Given the description of an element on the screen output the (x, y) to click on. 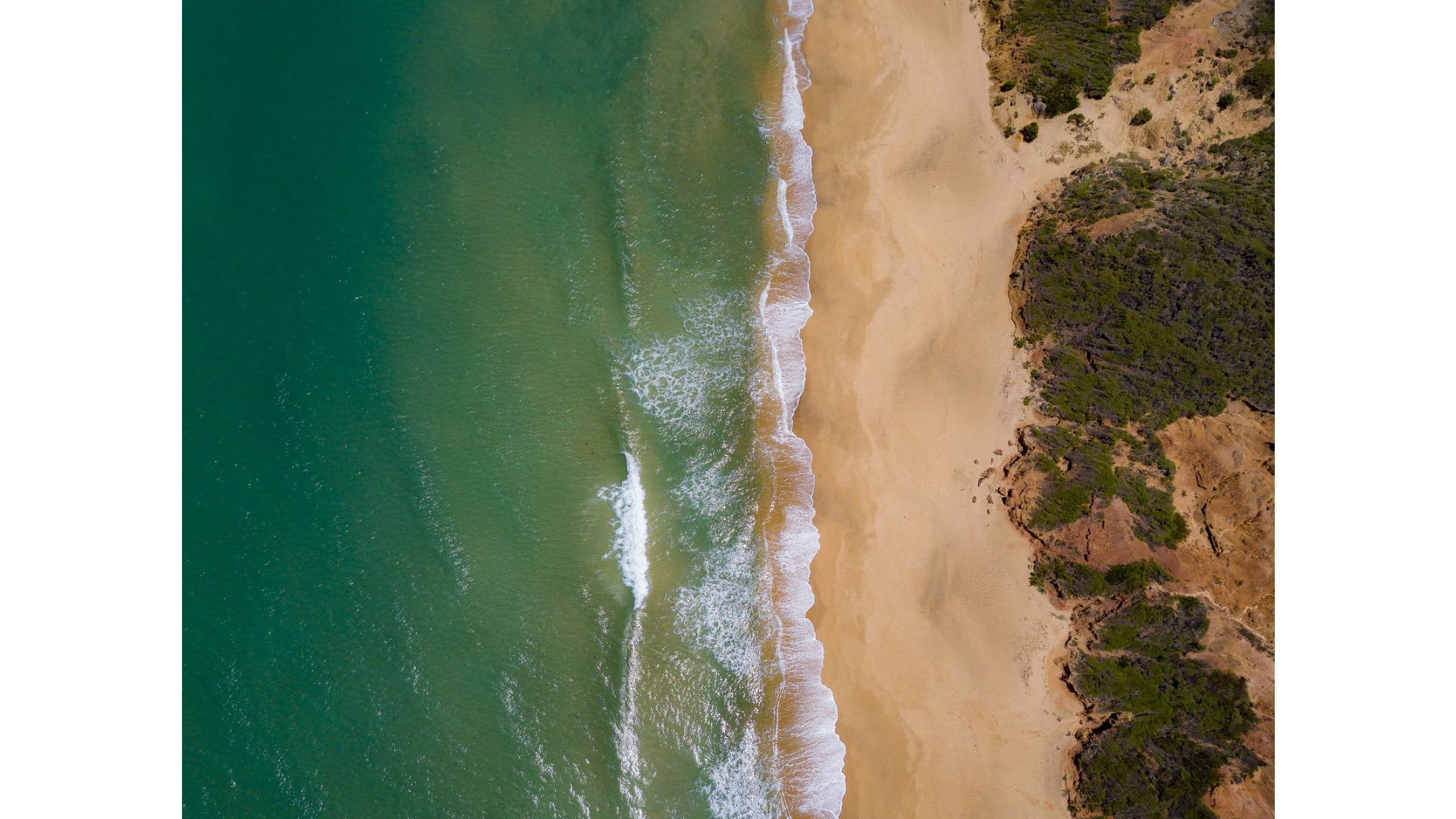
Free Photos Element type: text (785, 37)
Explore Element type: text (714, 37)
Owner Log In Element type: text (1419, 805)
Share Gallery Element type: hover (1373, 489)
Contact Element type: text (857, 37)
SEARCH Element type: text (1175, 34)
Slideshow Element type: hover (1410, 489)
Powered by SmugMug Element type: text (1336, 805)
Browse Collections Element type: text (625, 37)
